Given the description of an element on the screen output the (x, y) to click on. 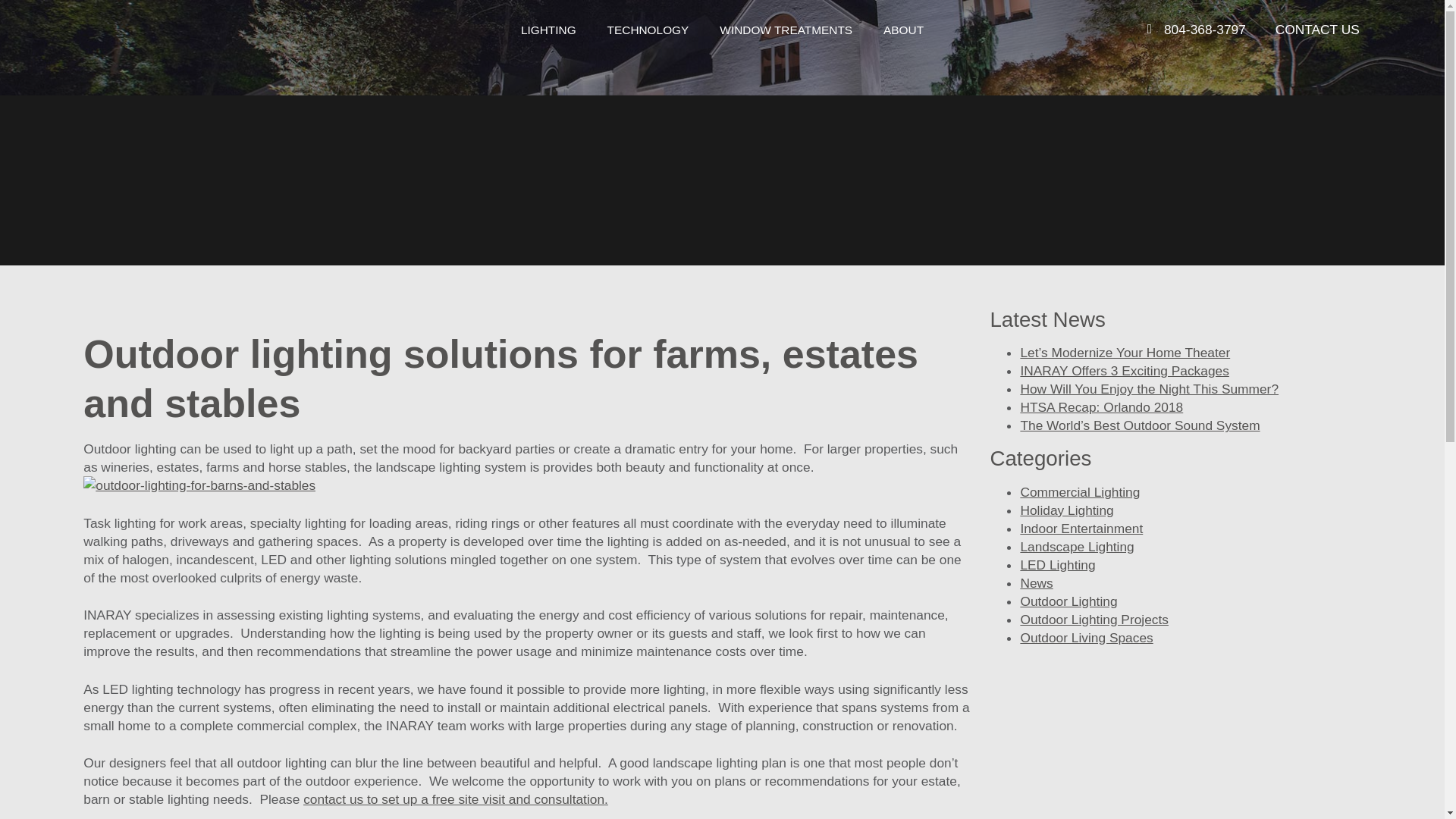
TECHNOLOGY (656, 29)
804-368-3797 (1204, 29)
Outdoor Lighting Projects (1094, 619)
News (1036, 582)
Outdoor Lighting (1068, 601)
LED Lighting (1057, 564)
WINDOW TREATMENTS (793, 29)
Landscape Lighting (1077, 546)
contact us to set up a free site visit and consultation (453, 798)
INARAY Offers 3 Exciting Packages (1124, 370)
